Given the description of an element on the screen output the (x, y) to click on. 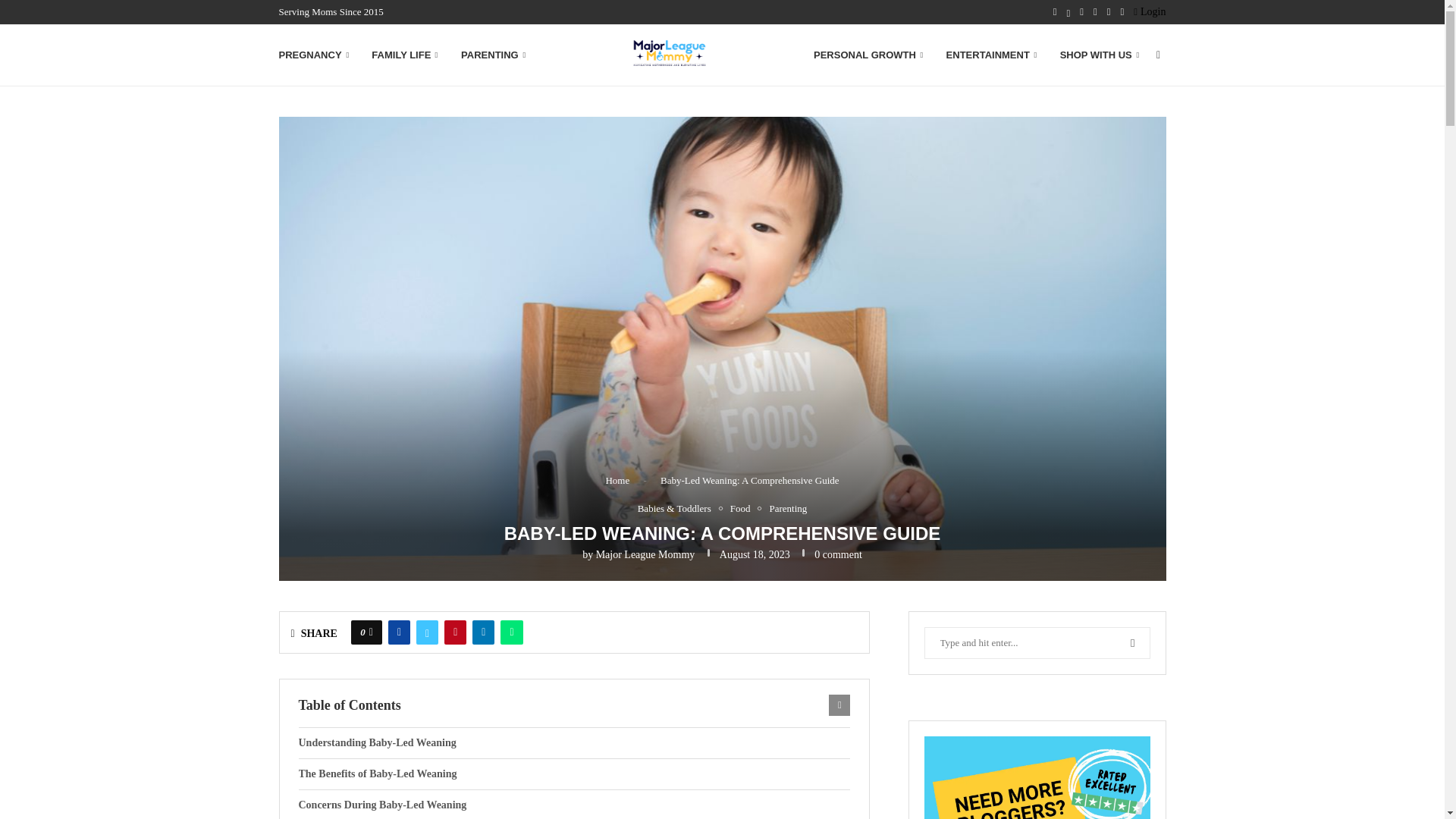
FAMILY LIFE (404, 55)
Understanding Baby-Led Weaning (574, 743)
Major League Mommy (645, 554)
PERSONAL GROWTH (868, 55)
PARENTING (493, 55)
ENTERTAINMENT (991, 55)
Login (1150, 12)
Concerns During Baby-Led Weaning (574, 804)
PREGNANCY (314, 55)
The Benefits of Baby-Led Weaning (574, 774)
SHOP WITH US (1099, 55)
